Given the description of an element on the screen output the (x, y) to click on. 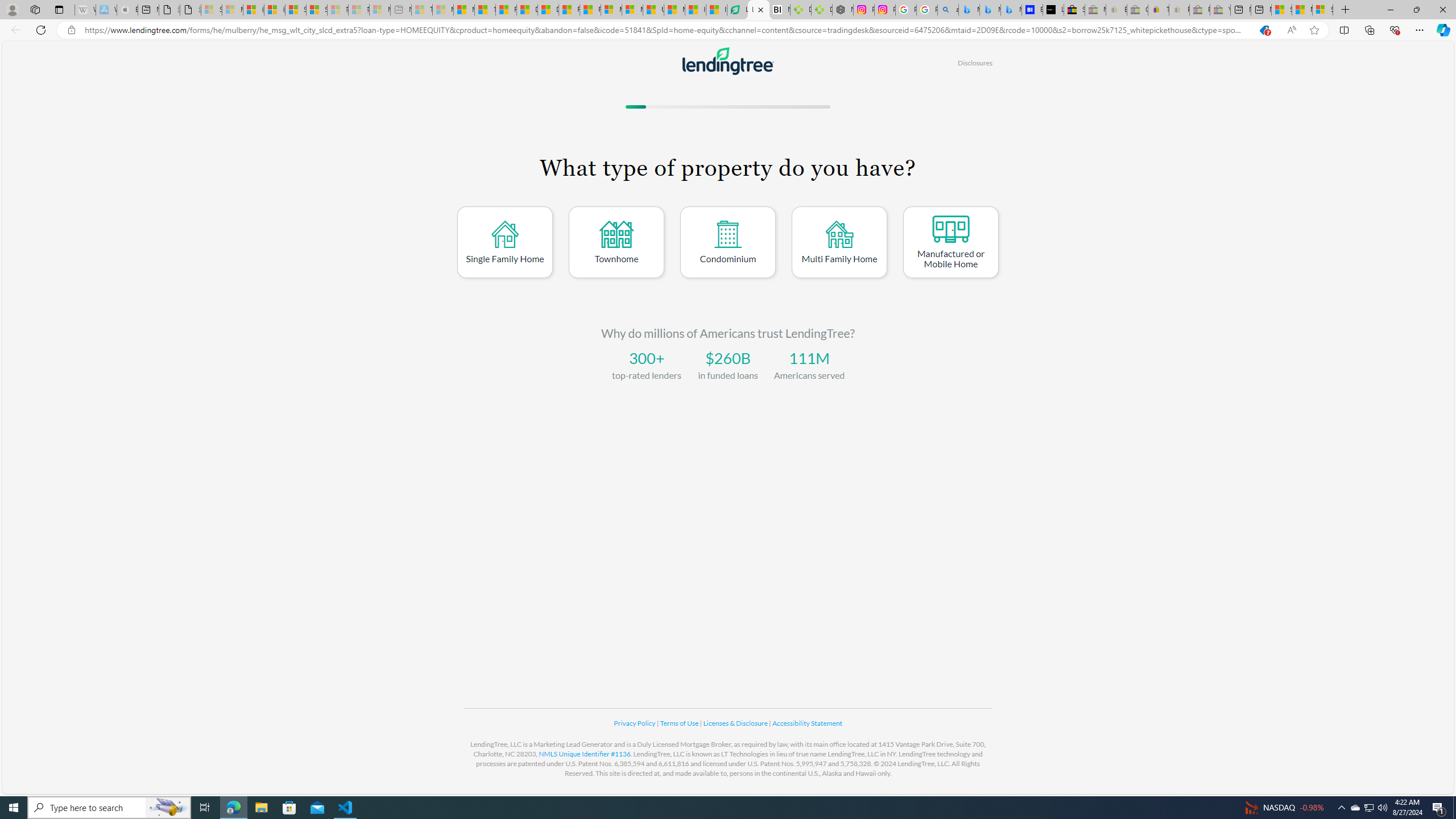
Licenses & Disclosure  (735, 723)
Sign in to your Microsoft account (1322, 9)
Marine life - MSN - Sleeping (443, 9)
Sign in to your Microsoft account - Sleeping (211, 9)
NMLS Unique Identifier #1136 (584, 753)
LendingTree - Compare Lenders (759, 9)
Descarga Driver Updater (821, 9)
